Given the description of an element on the screen output the (x, y) to click on. 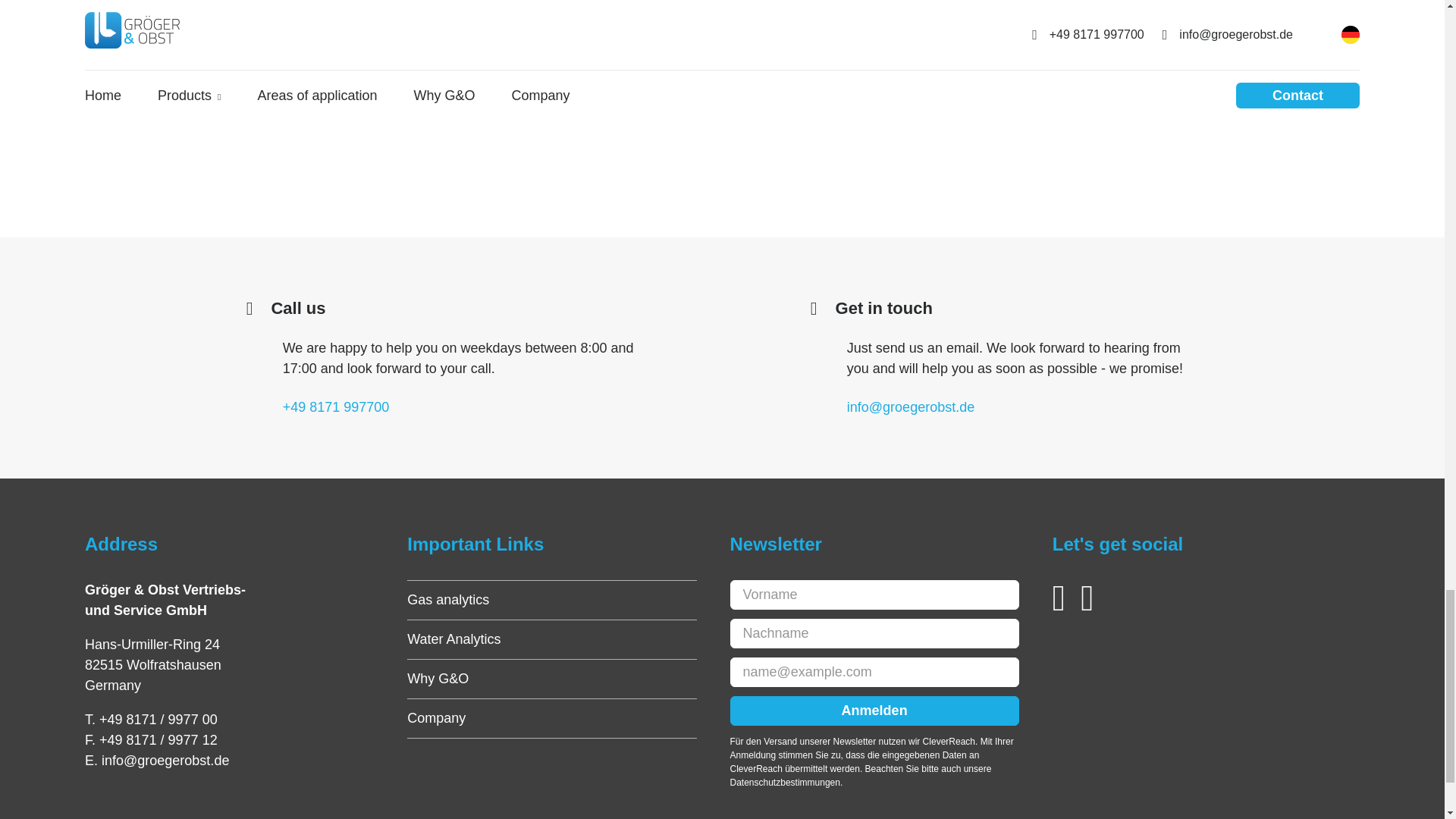
Refineries (205, 26)
Gas analytics (448, 599)
Drinking and process water monitoring (463, 26)
